Given the description of an element on the screen output the (x, y) to click on. 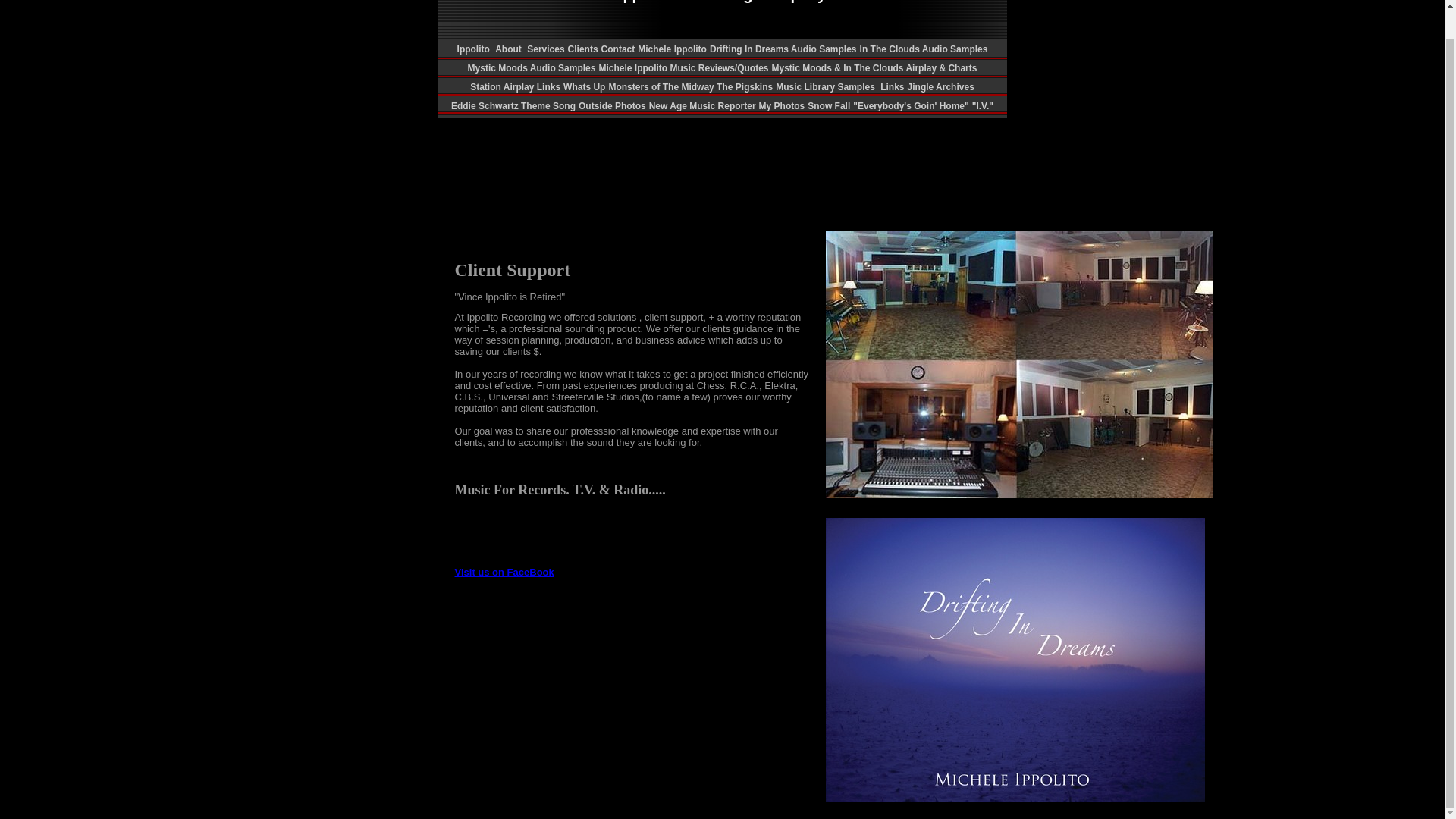
Contact (617, 49)
About  (509, 49)
Station Airplay Links (515, 86)
Whats Up (584, 86)
Drifting In Dreams Audio Samples (783, 49)
Snow Fall (829, 105)
Monsters of The Midway The Pigskins (690, 86)
Outside Photos (612, 105)
Services (545, 49)
FaceBook (504, 572)
Jingle Archives (940, 86)
My Photos (781, 105)
Ippolito  (475, 49)
New Age Music Reporter (702, 105)
In The Clouds Audio Samples (924, 49)
